Given the description of an element on the screen output the (x, y) to click on. 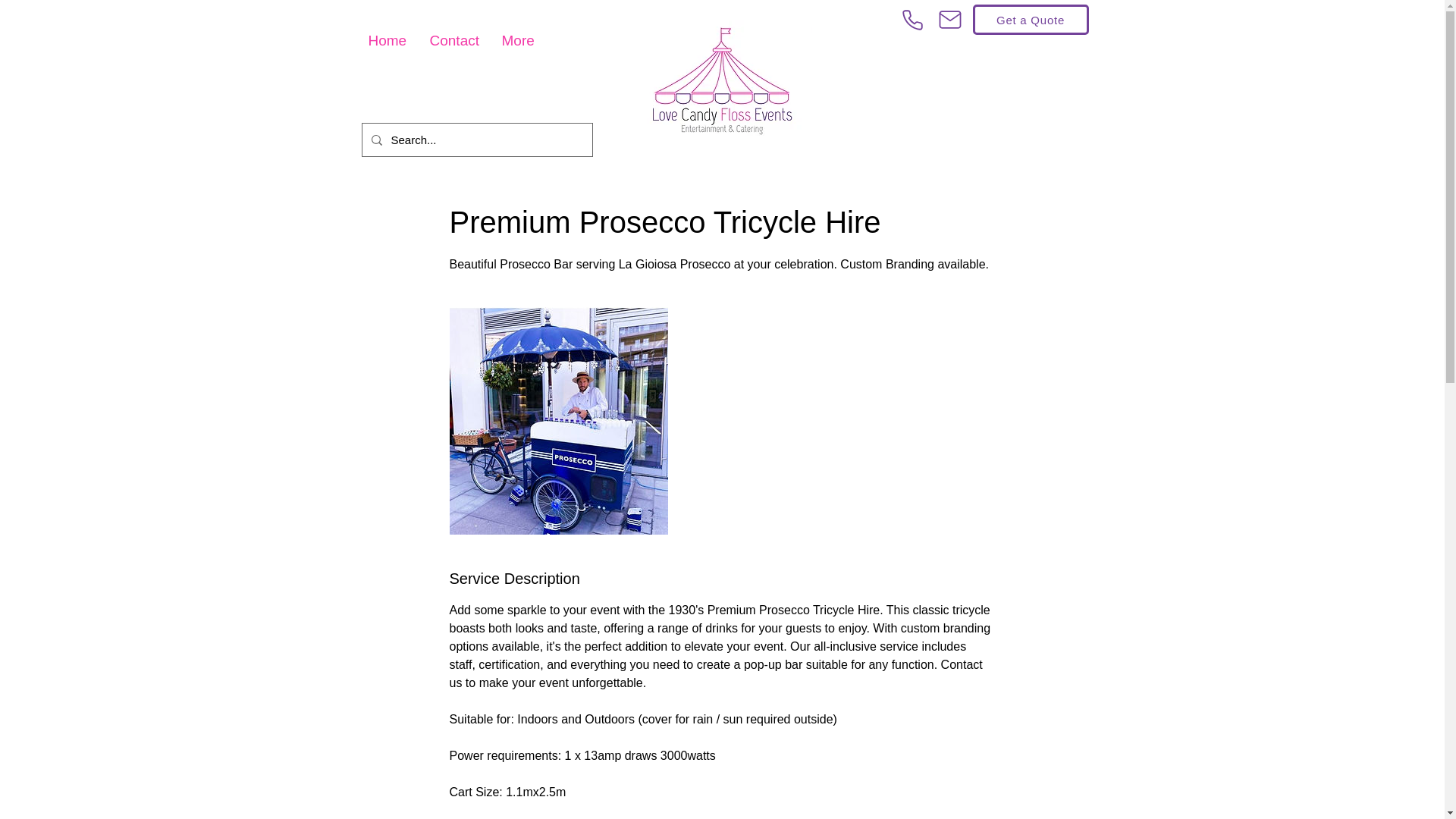
Contact (454, 40)
Get a Quote (1029, 19)
Home (386, 40)
